Given the description of an element on the screen output the (x, y) to click on. 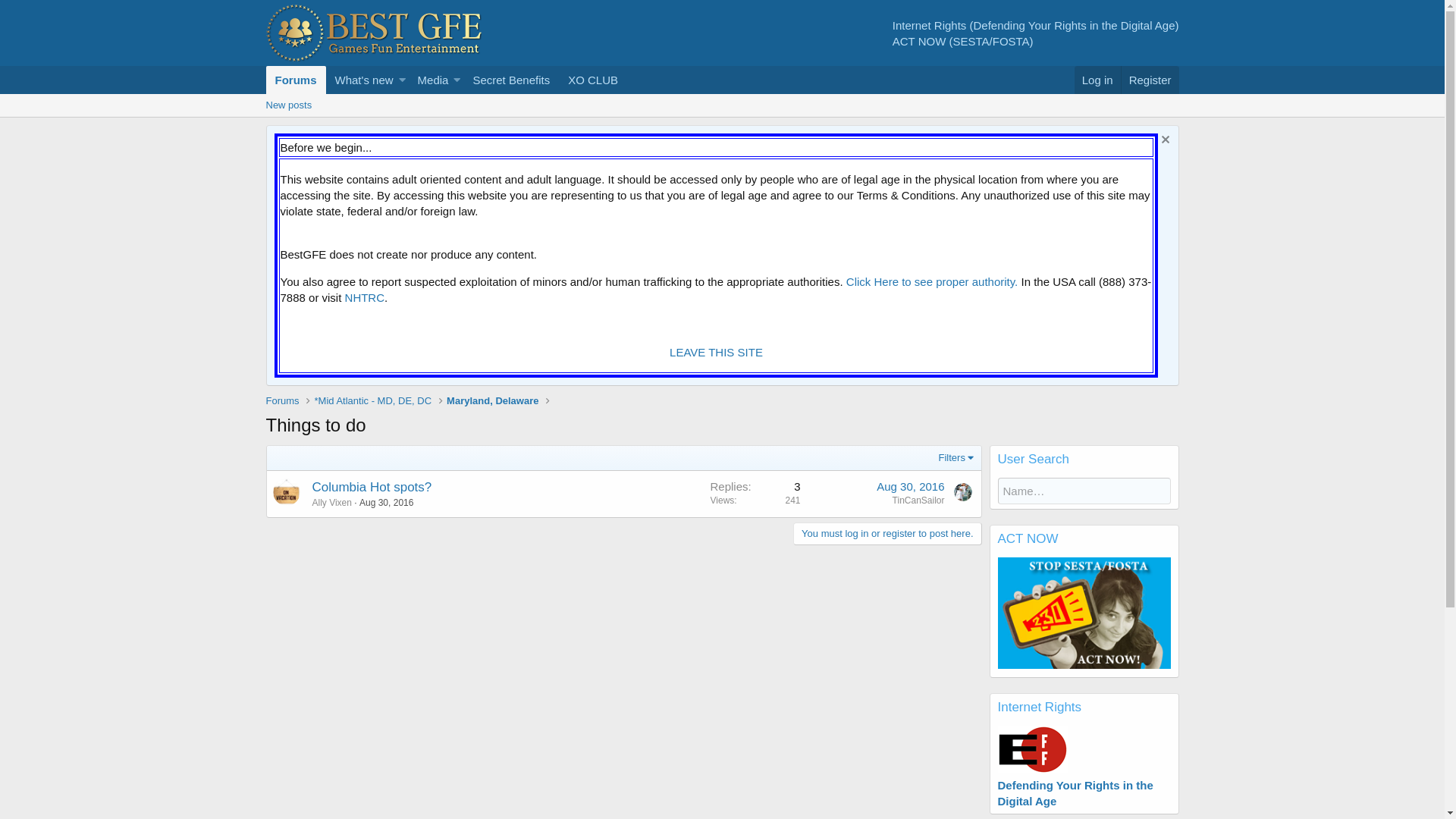
Register Element type: text (1149, 79)
Internet Rights (Defending Your Rights in the Digital Age) Element type: text (1035, 24)
New posts Element type: text (288, 105)
Aug 30, 2016 Element type: text (386, 502)
XO CLUB Element type: text (592, 79)
LEAVE THIS SITE Element type: text (715, 351)
What's new Element type: text (360, 79)
NHTRC Element type: text (365, 297)
Click Here to see proper authority. Element type: text (932, 281)
ACT NOW (SESTA/FOSTA) Element type: text (962, 40)
Media Element type: text (429, 79)
Log in Element type: text (1097, 79)
TinCanSailor Element type: text (918, 500)
Columbia Hot spots? Element type: text (372, 487)
Defending Your Rights in the Digital Age Element type: text (1075, 784)
Ally Vixen Element type: text (331, 502)
Aug 30, 2016 Element type: text (910, 486)
Filters Element type: text (956, 457)
Forums Element type: text (281, 400)
You must log in or register to post here. Element type: text (887, 533)
*Mid Atlantic - MD, DE, DC Element type: text (373, 400)
Forums Element type: text (295, 79)
Maryland, Delaware Element type: text (492, 400)
Secret Benefits Element type: text (510, 79)
